Given the description of an element on the screen output the (x, y) to click on. 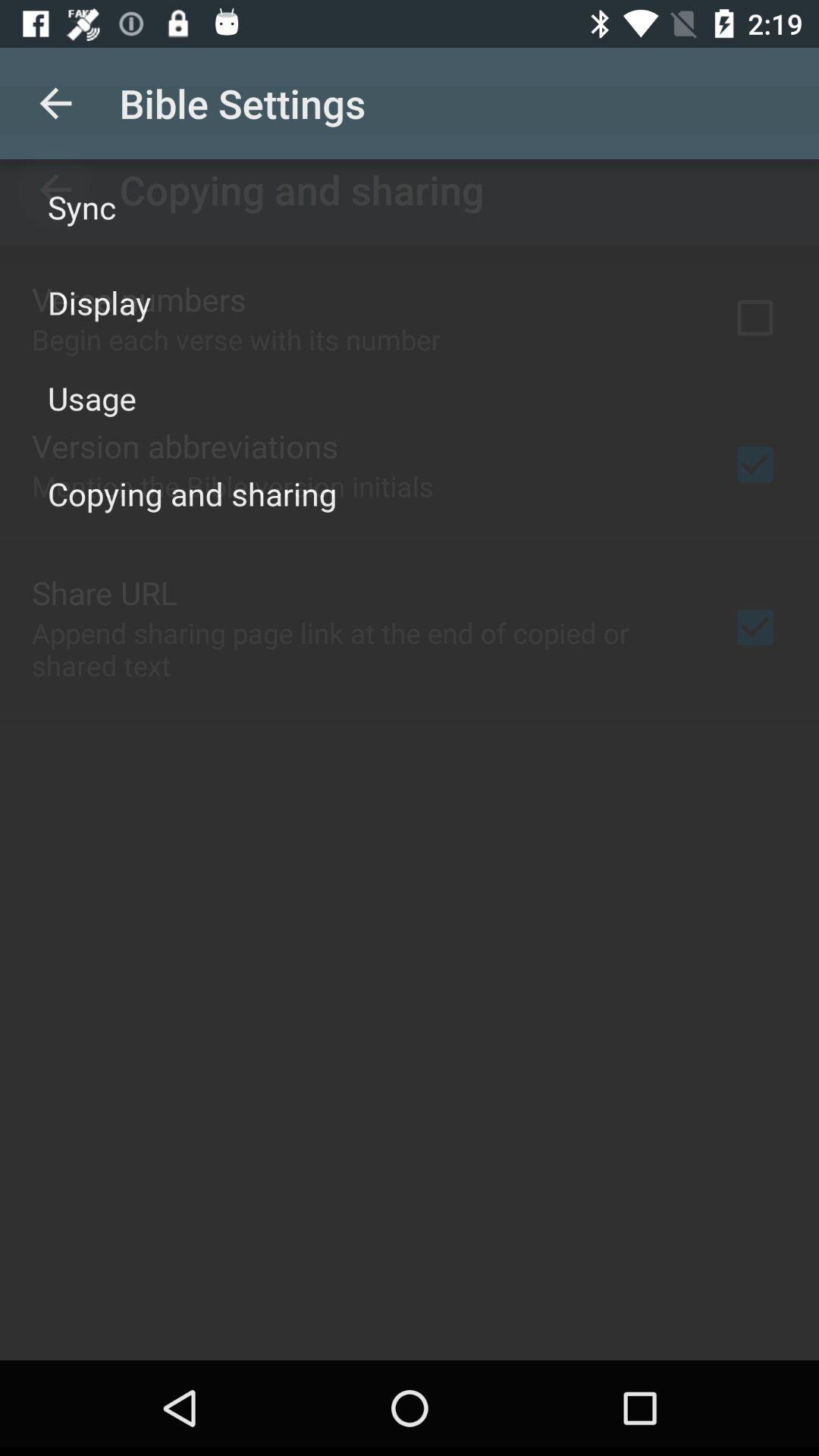
turn off the icon above the copying and sharing item (91, 397)
